Given the description of an element on the screen output the (x, y) to click on. 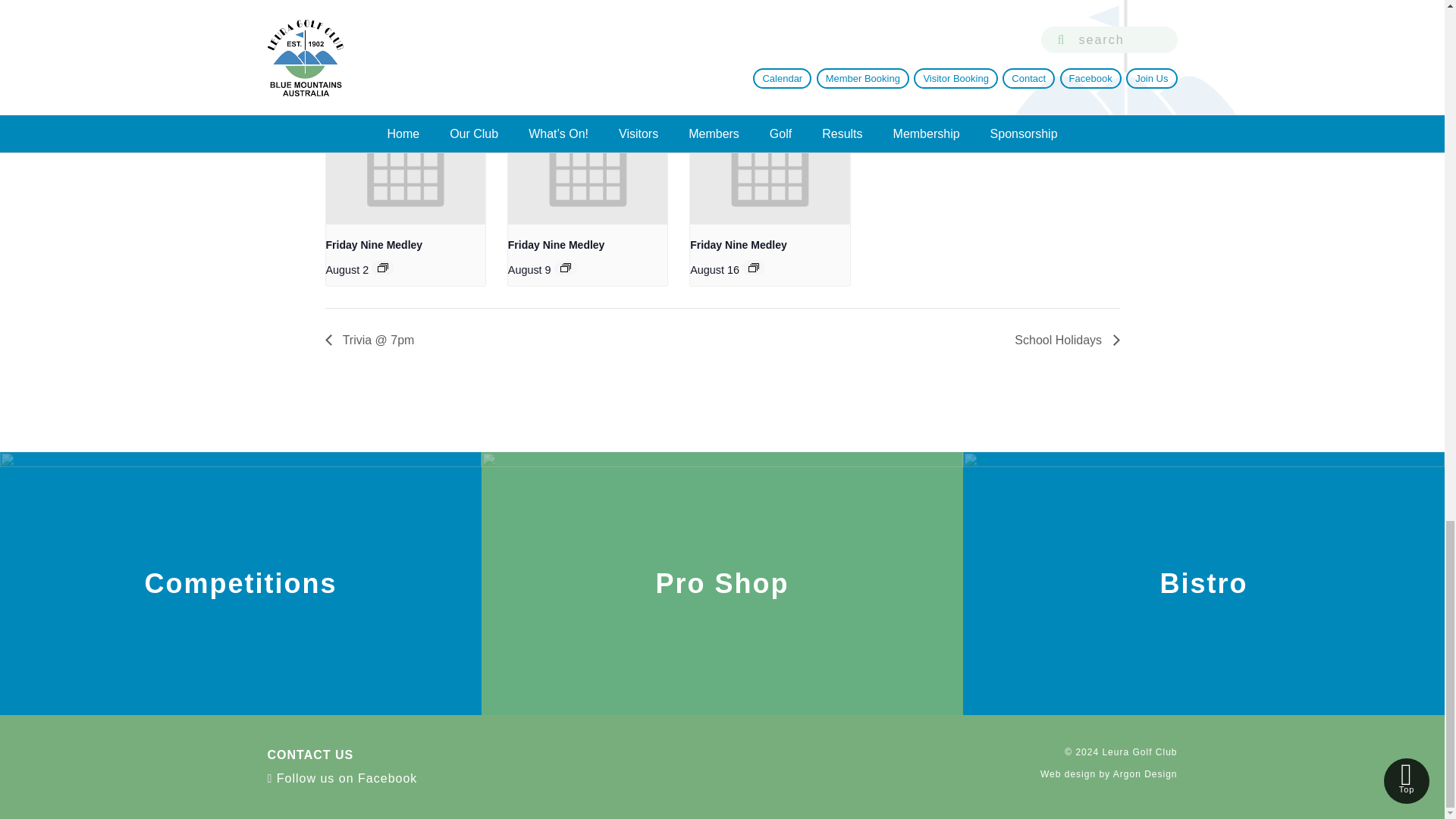
Event Series (565, 266)
Event Series (753, 266)
Event Series (382, 266)
